Given the description of an element on the screen output the (x, y) to click on. 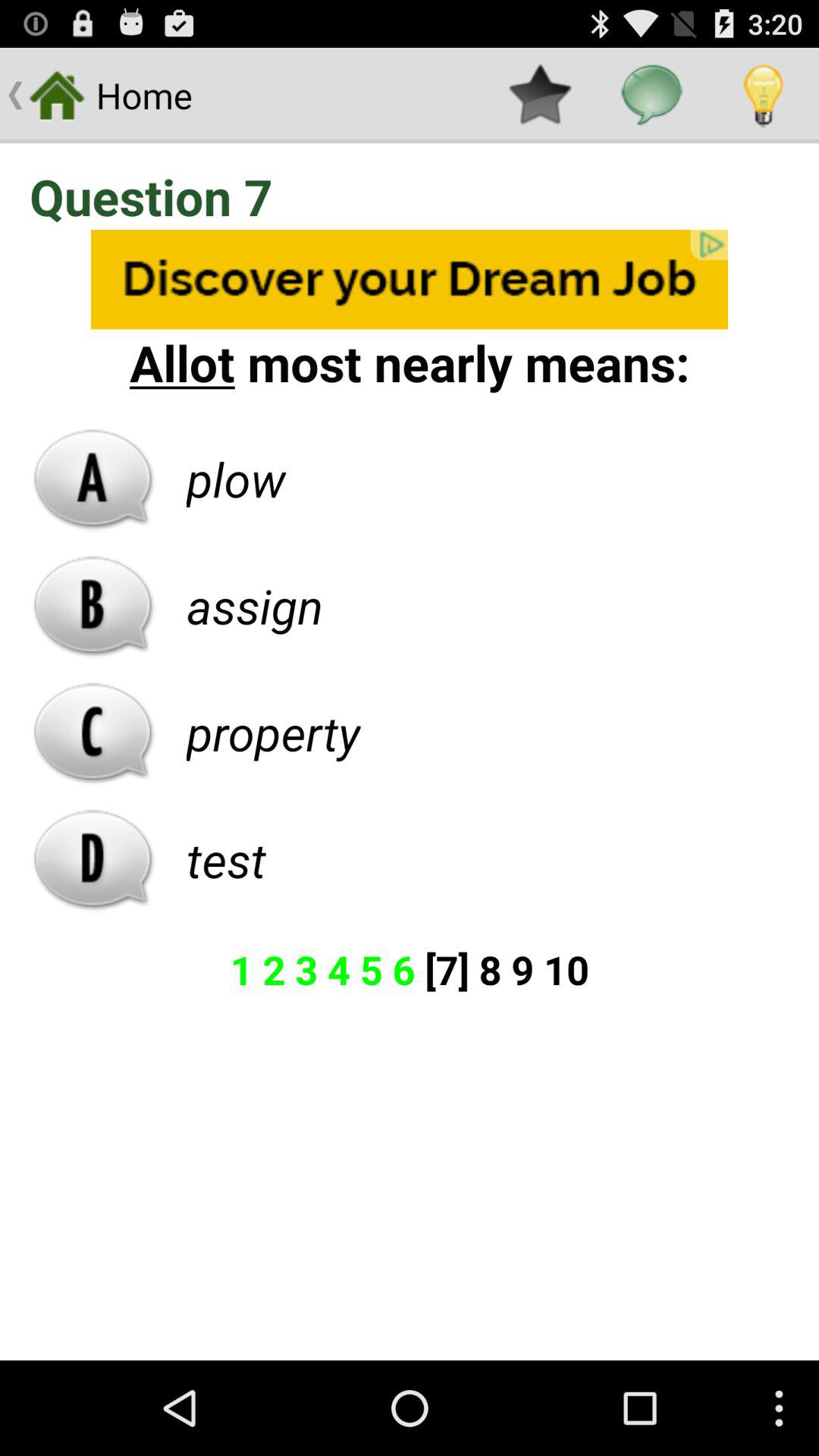
view advertising (409, 279)
